Given the description of an element on the screen output the (x, y) to click on. 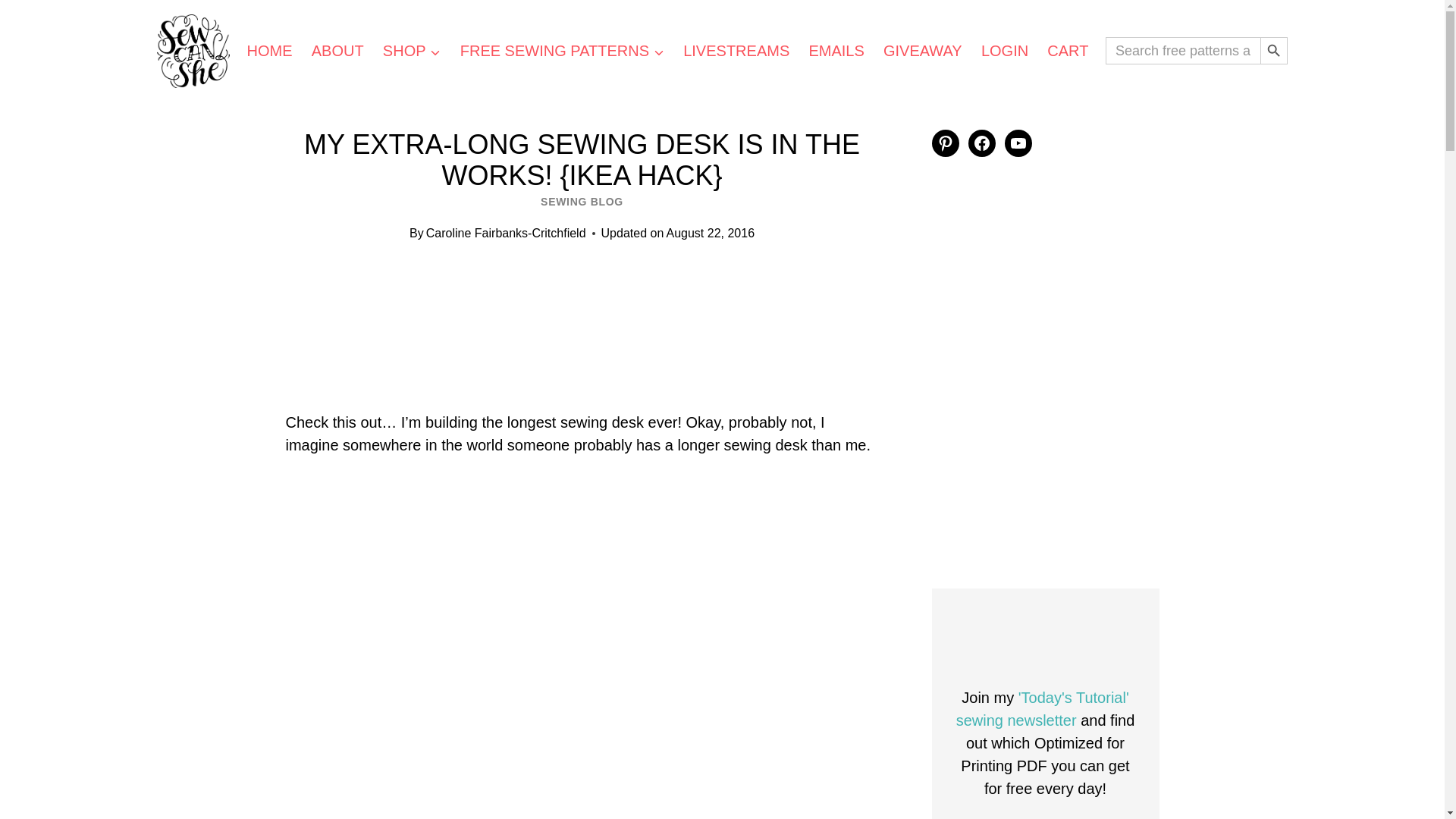
FREE SEWING PATTERNS (560, 50)
CART (1067, 50)
EMAILS (837, 50)
SHOP (410, 50)
LIVESTREAMS (736, 50)
LOGIN (1003, 50)
HOME (269, 50)
GIVEAWAY (922, 50)
SEWING BLOG (581, 201)
ABOUT (336, 50)
